Given the description of an element on the screen output the (x, y) to click on. 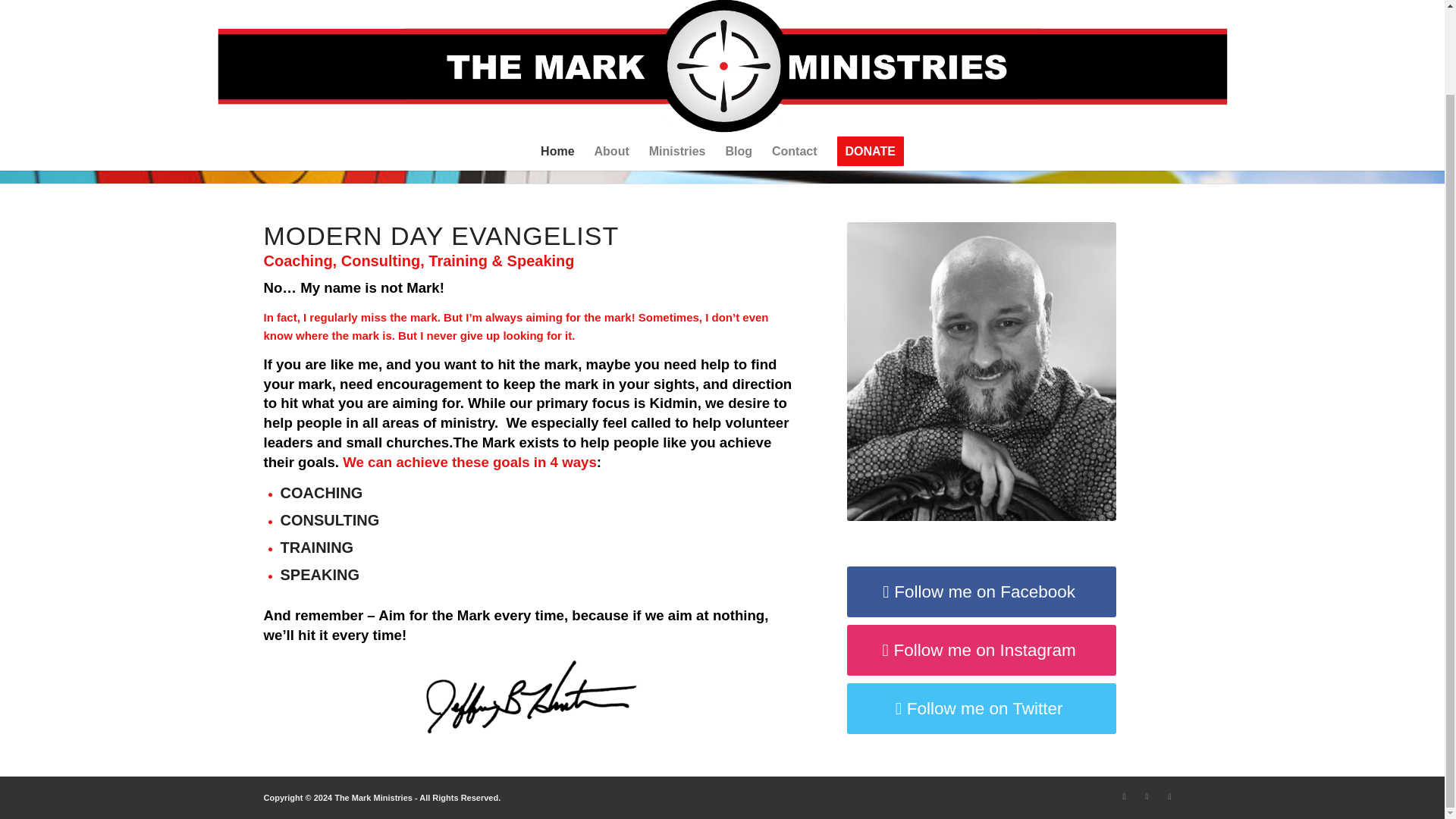
SPEAKING (320, 574)
Follow me on Instagram (981, 649)
jeff's signature copy (527, 696)
COACHING (321, 492)
Ministries (677, 55)
About (612, 55)
TRAINING (317, 547)
Facebook (1124, 795)
Twitter (1169, 795)
Follow me on Twitter (981, 708)
